Given the description of an element on the screen output the (x, y) to click on. 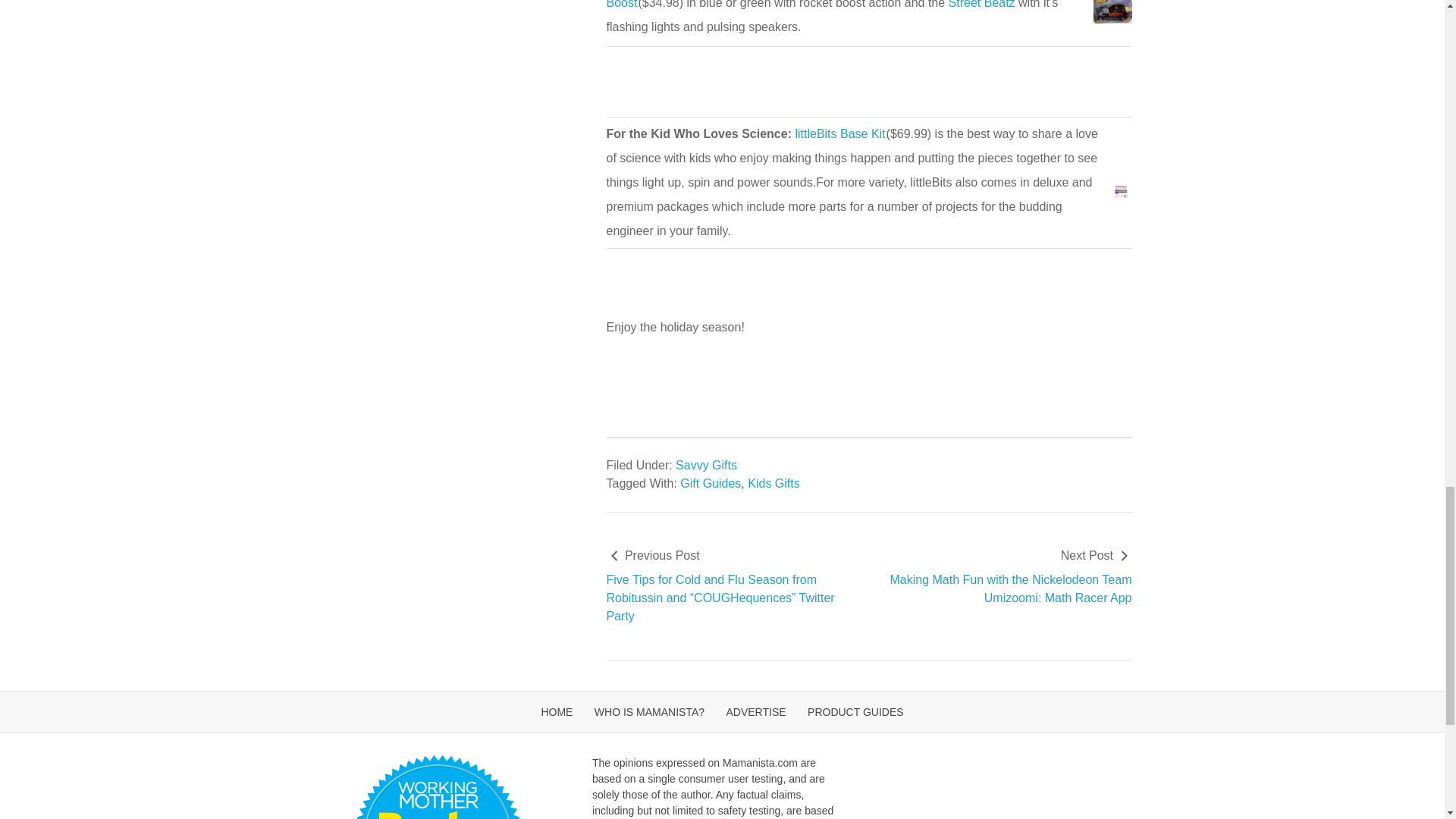
littleBits Base Kit (839, 133)
Street Beatz (981, 4)
Savvy Gifts (705, 464)
Kids Gifts (773, 482)
Toystate Road Rippers Maximum Boost (838, 4)
Gift Guides (710, 482)
